Given the description of an element on the screen output the (x, y) to click on. 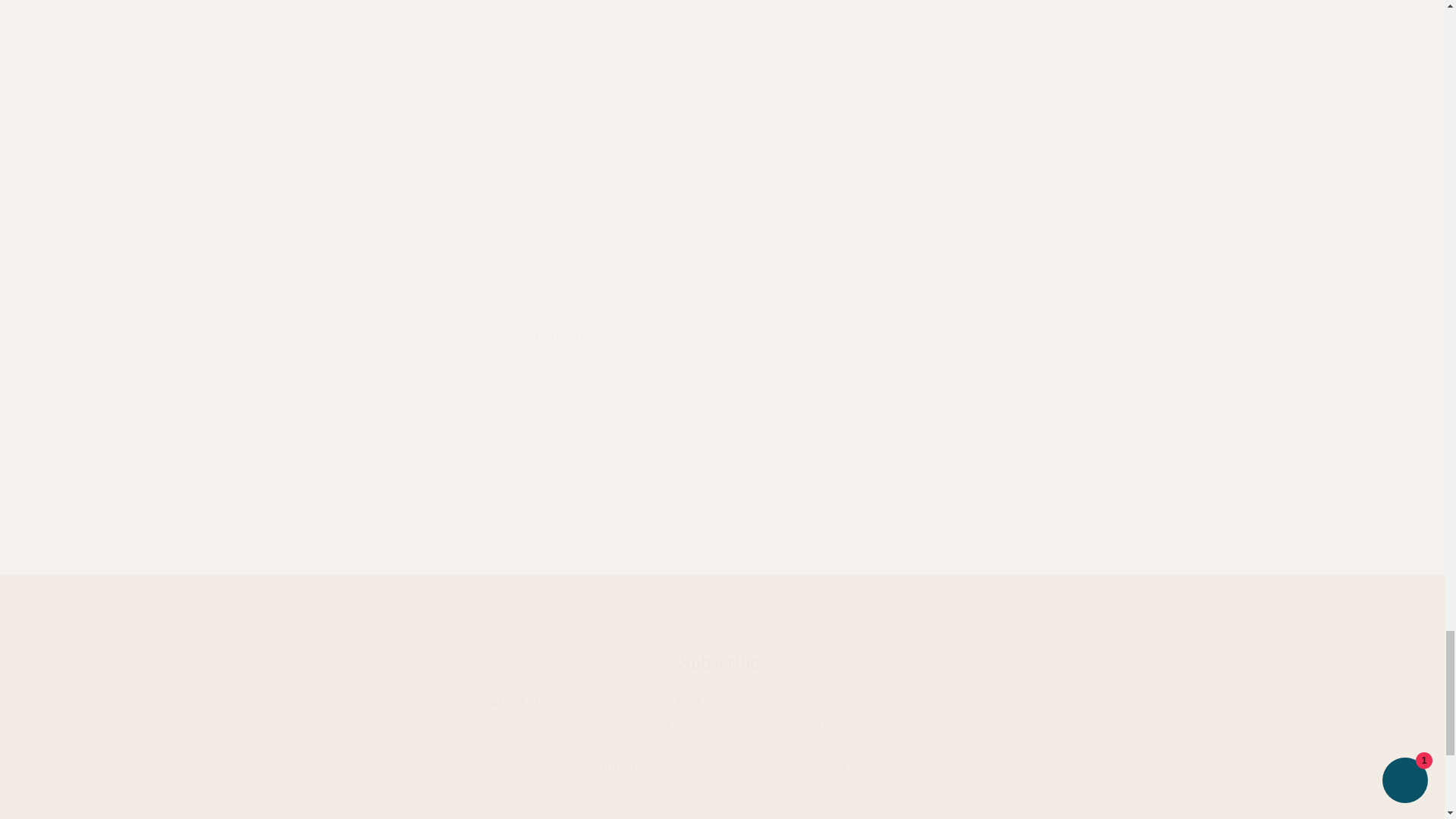
Email (722, 766)
Post comment (510, 544)
Subscribe. (721, 662)
